Given the description of an element on the screen output the (x, y) to click on. 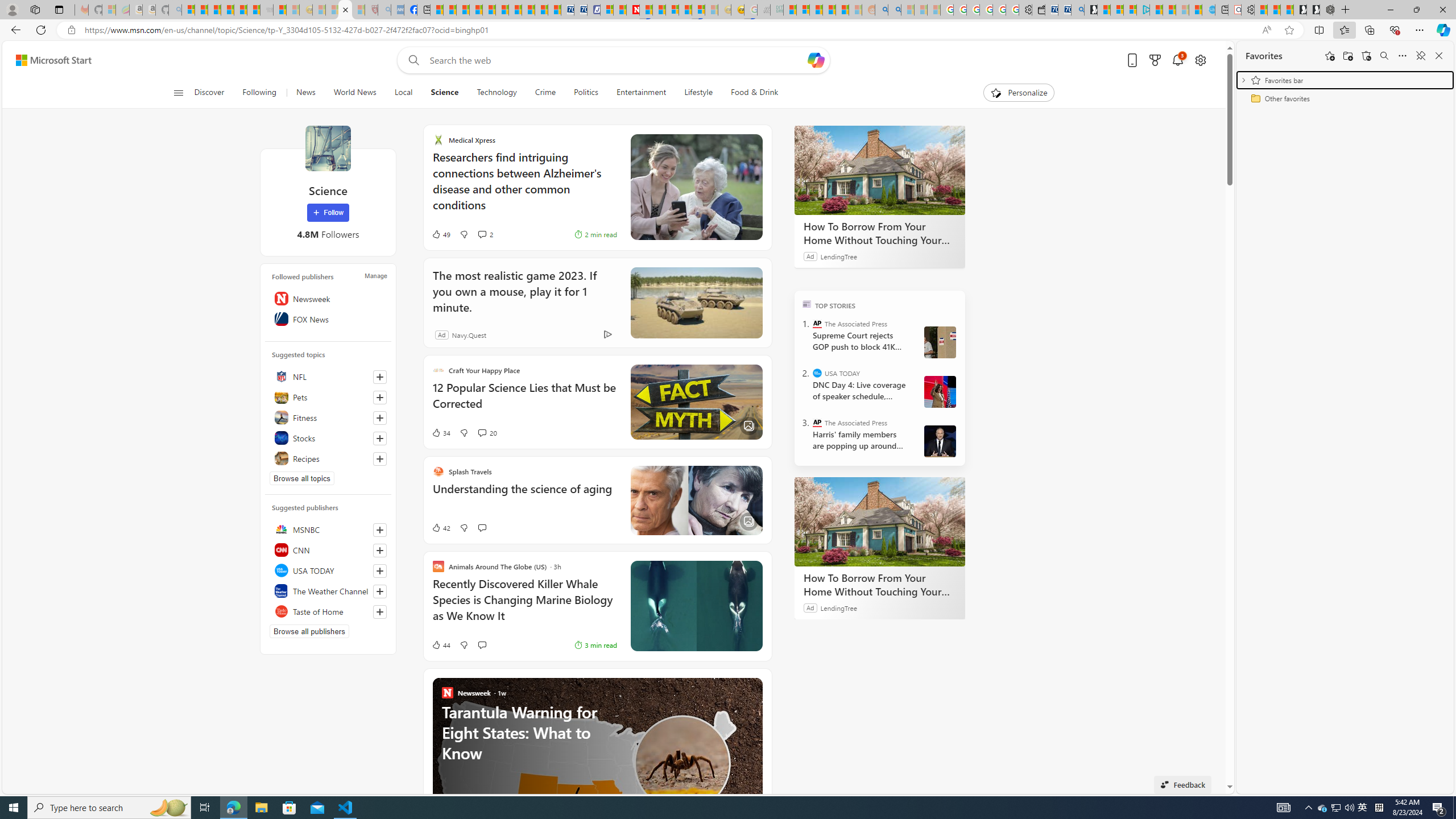
Latest Politics News & Archive | Newsweek.com (633, 9)
Cheap Car Rentals - Save70.com (1063, 9)
Stocks - MSN (252, 9)
MSNBC - MSN (789, 9)
The Weather Channel - MSN (213, 9)
12 Popular Science Lies that Must be Corrected - Sleeping (357, 9)
Microsoft-Report a Concern to Bing - Sleeping (108, 9)
DITOGAMES AG Imprint - Sleeping (776, 9)
Bing Real Estate - Home sales and rental listings (1077, 9)
